Given the description of an element on the screen output the (x, y) to click on. 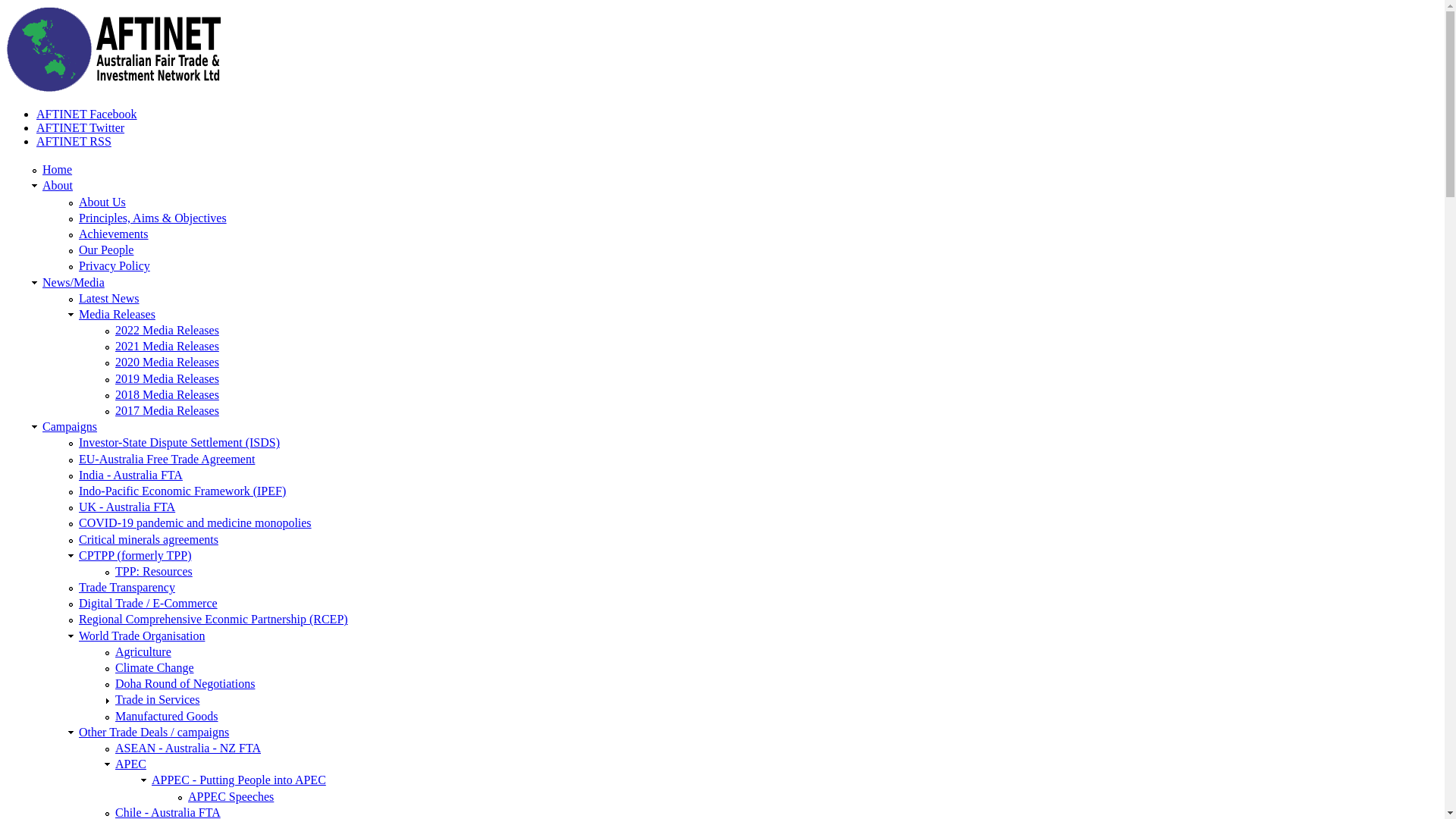
Media Releases Element type: text (116, 313)
Privacy Policy Element type: text (114, 265)
Doha Round of Negotiations Element type: text (184, 683)
TPP: Resources Element type: text (153, 570)
APEC Element type: text (130, 763)
AFTINET Facebook Element type: text (86, 113)
Principles, Aims & Objectives Element type: text (152, 217)
Trade in Services Element type: text (157, 699)
APPEC Speeches Element type: text (230, 796)
About Element type: text (57, 184)
Our People Element type: text (105, 249)
COVID-19 pandemic and medicine monopolies Element type: text (194, 522)
2018 Media Releases Element type: text (167, 394)
2017 Media Releases Element type: text (167, 410)
Trade Transparency Element type: text (126, 586)
2020 Media Releases Element type: text (167, 361)
Home Element type: hover (113, 87)
Indo-Pacific Economic Framework (IPEF) Element type: text (181, 490)
India - Australia FTA Element type: text (130, 474)
Critical minerals agreements Element type: text (148, 538)
2021 Media Releases Element type: text (167, 345)
Latest News Element type: text (108, 297)
Digital Trade / E-Commerce Element type: text (147, 602)
APPEC - Putting People into APEC Element type: text (238, 779)
Home Element type: text (57, 169)
Other Trade Deals / campaigns Element type: text (153, 731)
World Trade Organisation Element type: text (141, 635)
Regional Comprehensive Econmic Partnership (RCEP) Element type: text (213, 618)
Agriculture Element type: text (143, 651)
UK - Australia FTA Element type: text (126, 506)
Manufactured Goods Element type: text (166, 715)
About Us Element type: text (101, 201)
Investor-State Dispute Settlement (ISDS) Element type: text (178, 442)
ASEAN - Australia - NZ FTA Element type: text (187, 747)
AFTINET Twitter Element type: text (80, 127)
News/Media Element type: text (73, 282)
2022 Media Releases Element type: text (167, 329)
Achievements Element type: text (113, 233)
AFTINET RSS Element type: text (73, 140)
Climate Change Element type: text (154, 667)
Campaigns Element type: text (69, 426)
2019 Media Releases Element type: text (167, 378)
CPTPP (formerly TPP) Element type: text (134, 555)
EU-Australia Free Trade Agreement Element type: text (166, 458)
